Given the description of an element on the screen output the (x, y) to click on. 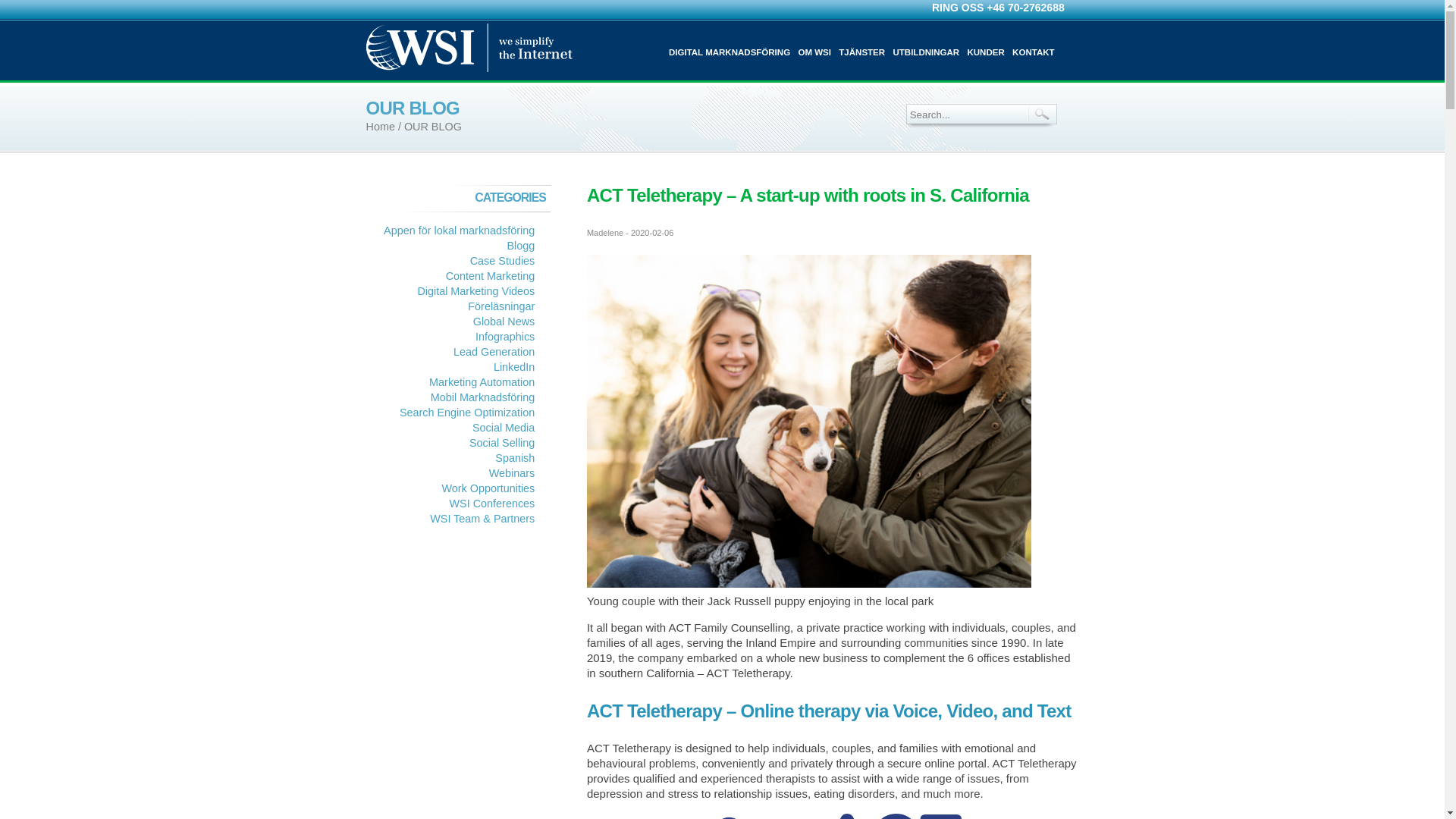
KUNDER (985, 52)
Search (1042, 114)
Lead Generation (493, 351)
Digital Marketing Videos (475, 291)
Home (379, 126)
Search (1042, 114)
Search (1042, 114)
LinkedIn (513, 367)
Global News (504, 321)
UTBILDNINGAR (925, 52)
OM WSI (814, 52)
Search... (964, 114)
Case Studies (502, 260)
Content Marketing (490, 275)
Infographics (505, 336)
